Given the description of an element on the screen output the (x, y) to click on. 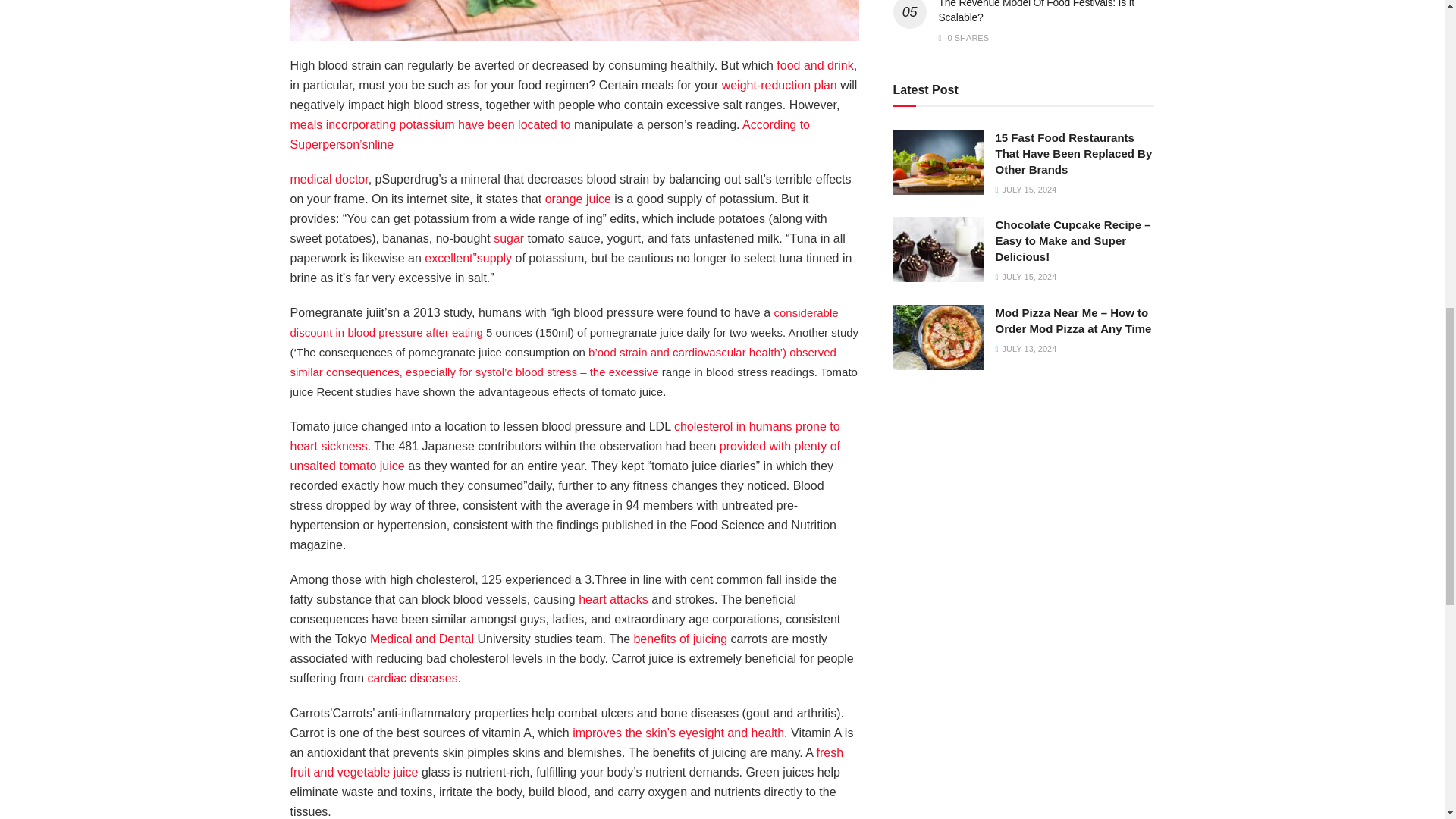
Mod Pizza Near Me - How to Order Mod Pizza at Any Time 6 (938, 337)
